Given the description of an element on the screen output the (x, y) to click on. 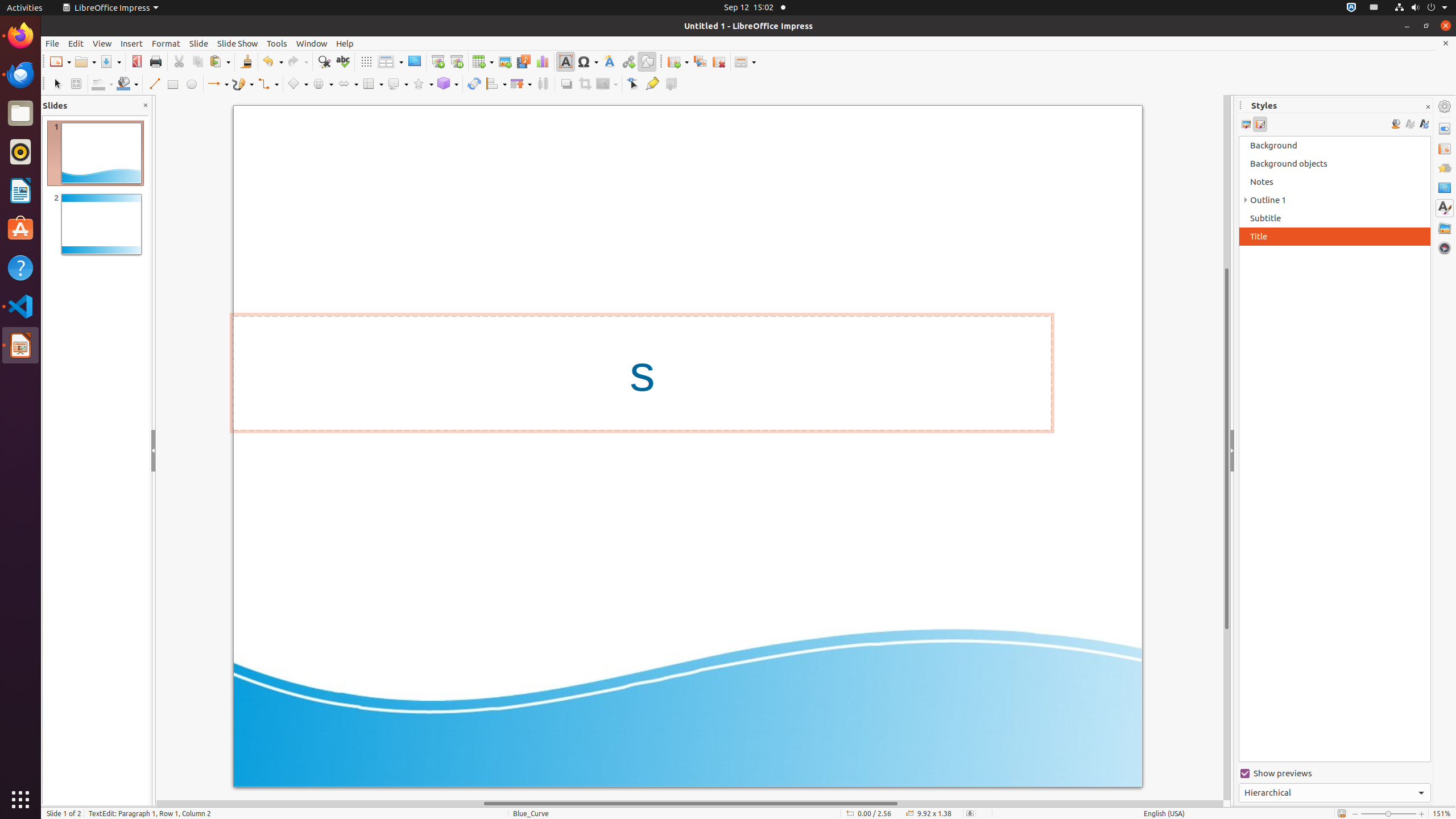
Callout Shapes Element type: push-button (397, 83)
Slide Element type: menu (198, 43)
Edit Points Element type: push-button (632, 83)
Close Sidebar Deck Element type: push-button (1427, 106)
Ubuntu Software Element type: push-button (20, 229)
